Given the description of an element on the screen output the (x, y) to click on. 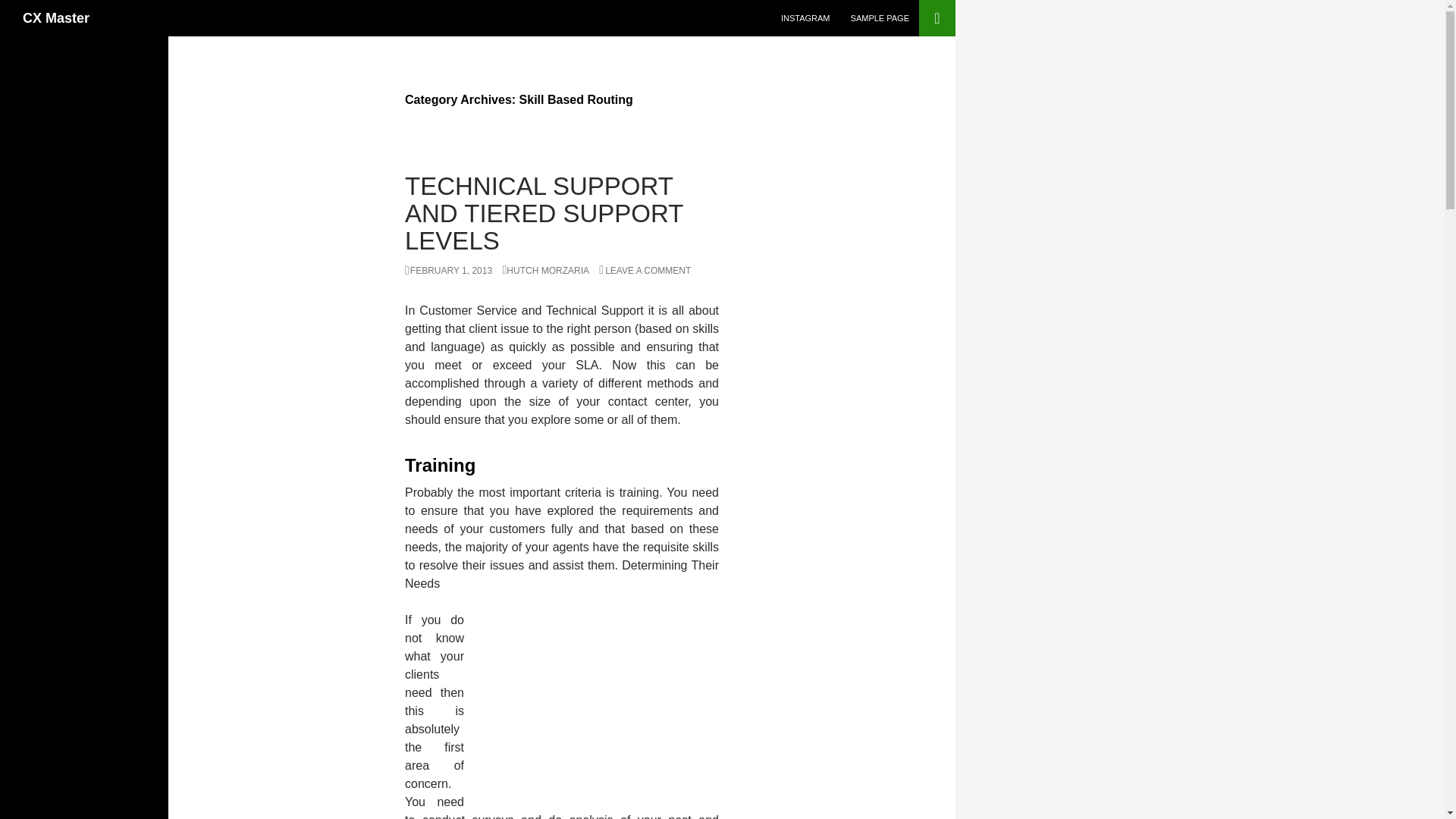
FEBRUARY 1, 2013 (448, 270)
HUTCH MORZARIA (545, 270)
TECHNICAL SUPPORT AND TIERED SUPPORT LEVELS (543, 212)
CX Master (55, 18)
SAMPLE PAGE (879, 18)
LEAVE A COMMENT (644, 270)
INSTAGRAM (805, 18)
